Given the description of an element on the screen output the (x, y) to click on. 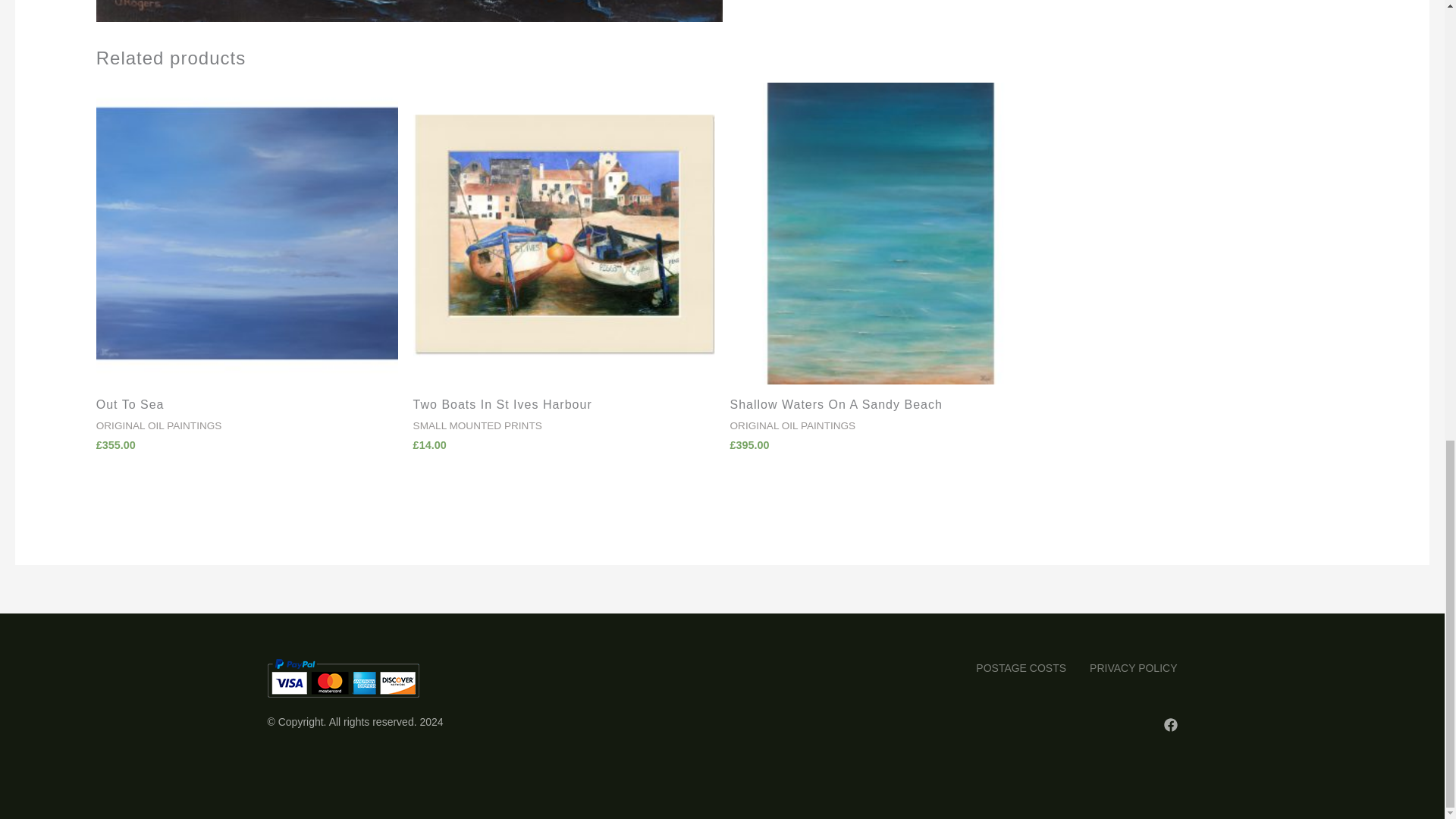
Shallow Waters On A Sandy Beach (879, 408)
Original oil painting by Jan Rogers. (409, 10)
Two Boats In St Ives Harbour (563, 408)
Out To Sea (246, 408)
